Given the description of an element on the screen output the (x, y) to click on. 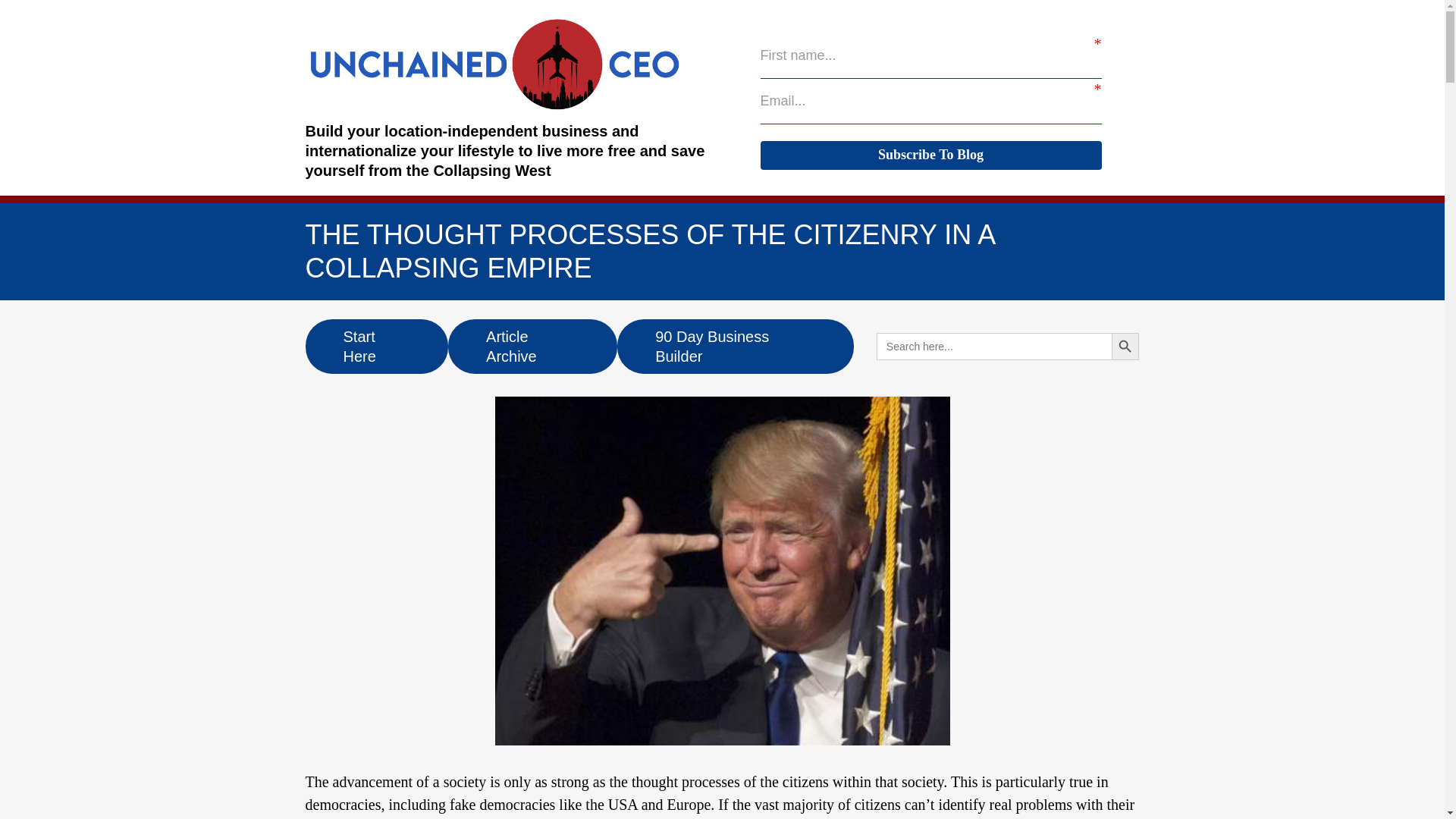
90 Day Business Builder (735, 346)
Start Here (376, 346)
Article Archive (532, 346)
Subscribe To Blog (930, 154)
Search Button (1125, 346)
